Given the description of an element on the screen output the (x, y) to click on. 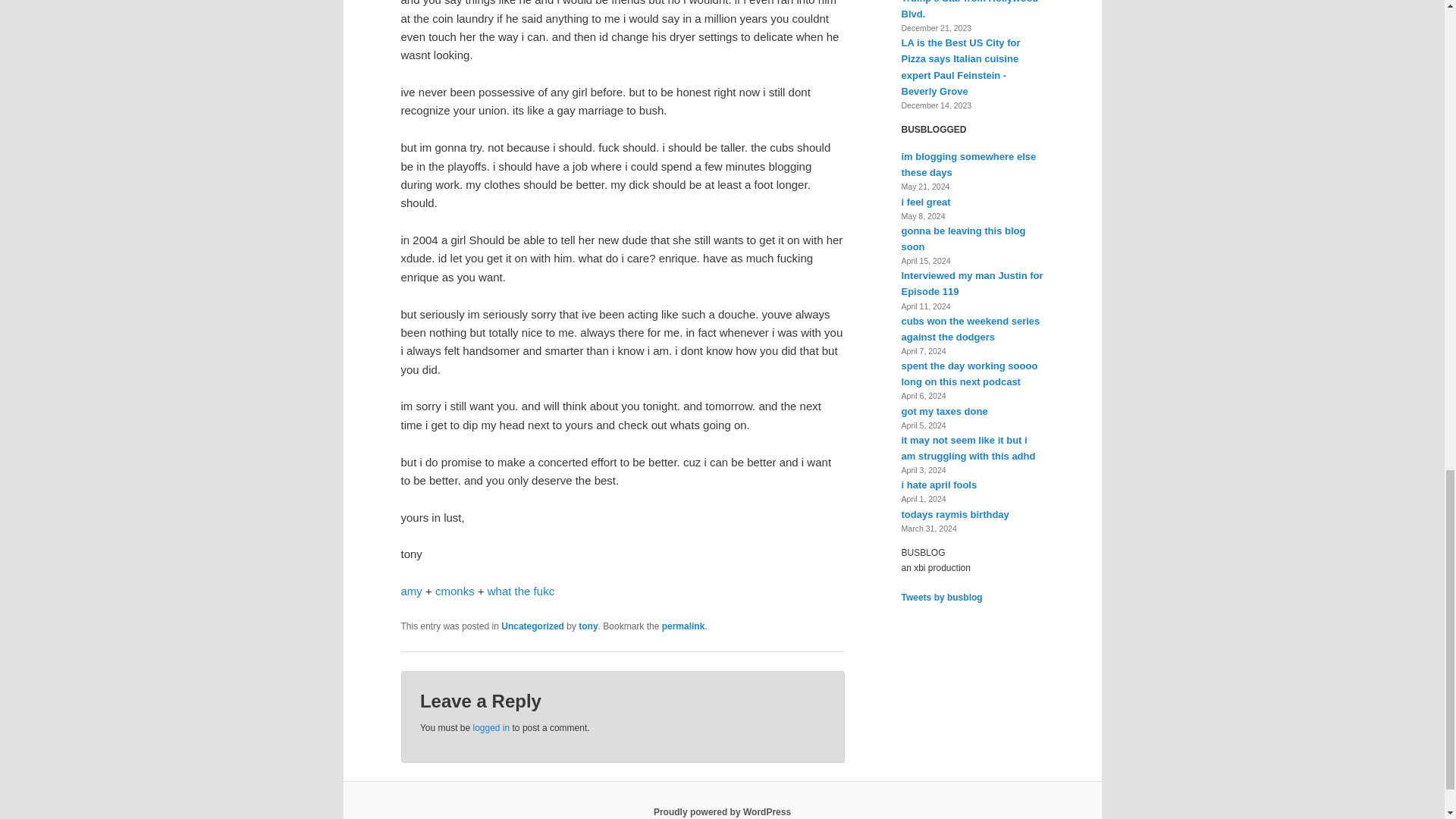
what the fukc (520, 590)
tony (587, 625)
logged in (490, 727)
Semantic Personal Publishing Platform (721, 811)
Permalink to dear anna, im sorry (683, 625)
Uncategorized (532, 625)
amy (411, 590)
permalink (683, 625)
cmonks (454, 590)
